Given the description of an element on the screen output the (x, y) to click on. 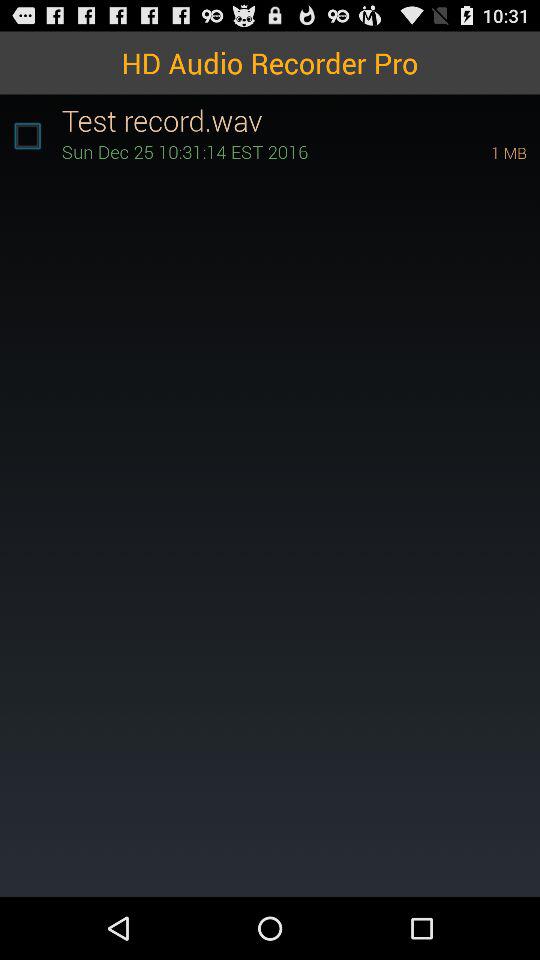
turn on icon to the left of the 1 mb item (248, 151)
